Given the description of an element on the screen output the (x, y) to click on. 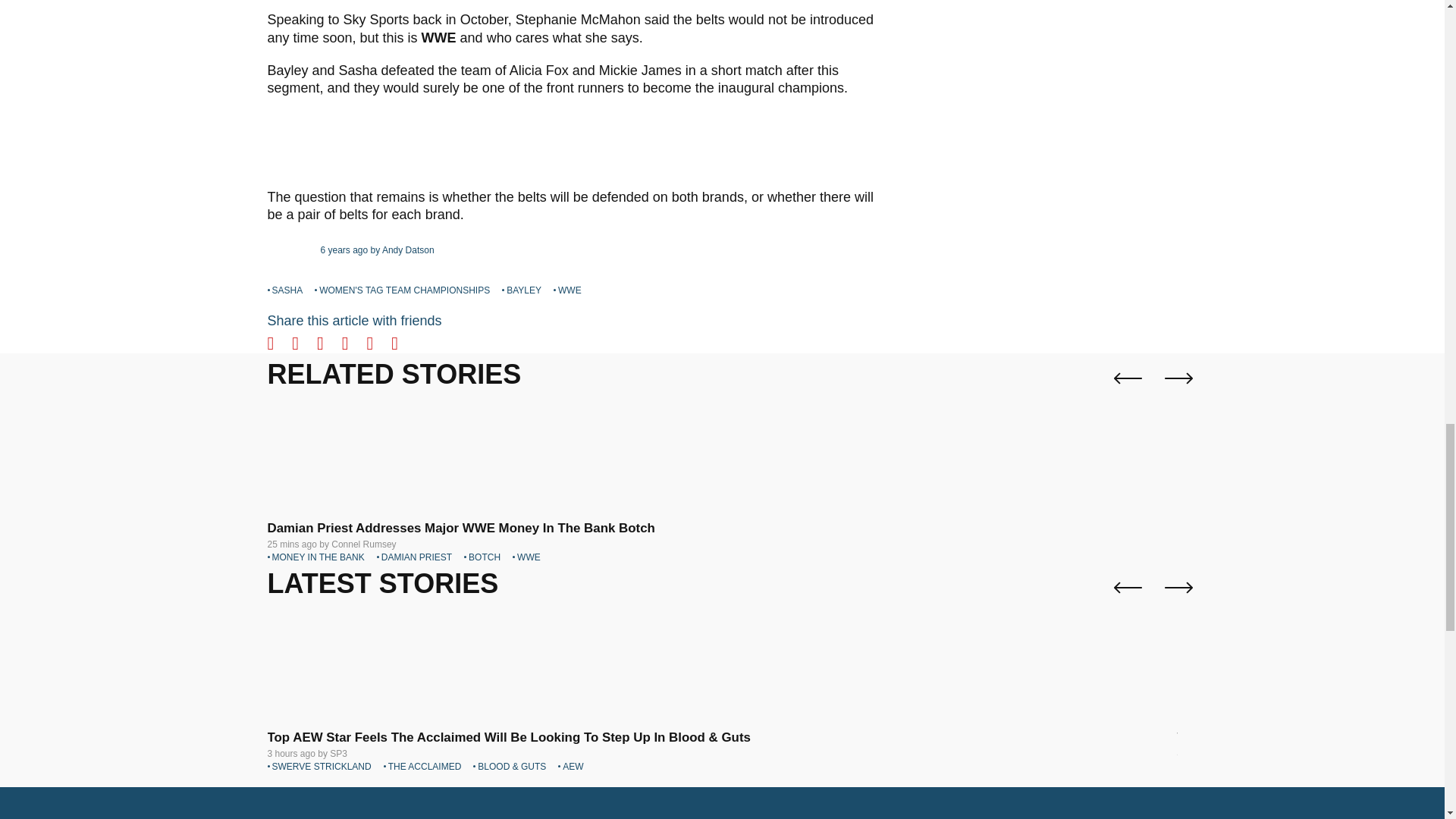
WOMEN'S TAG TEAM CHAMPIONSHIPS (401, 289)
SASHA (284, 289)
BAYLEY (521, 289)
